Given the description of an element on the screen output the (x, y) to click on. 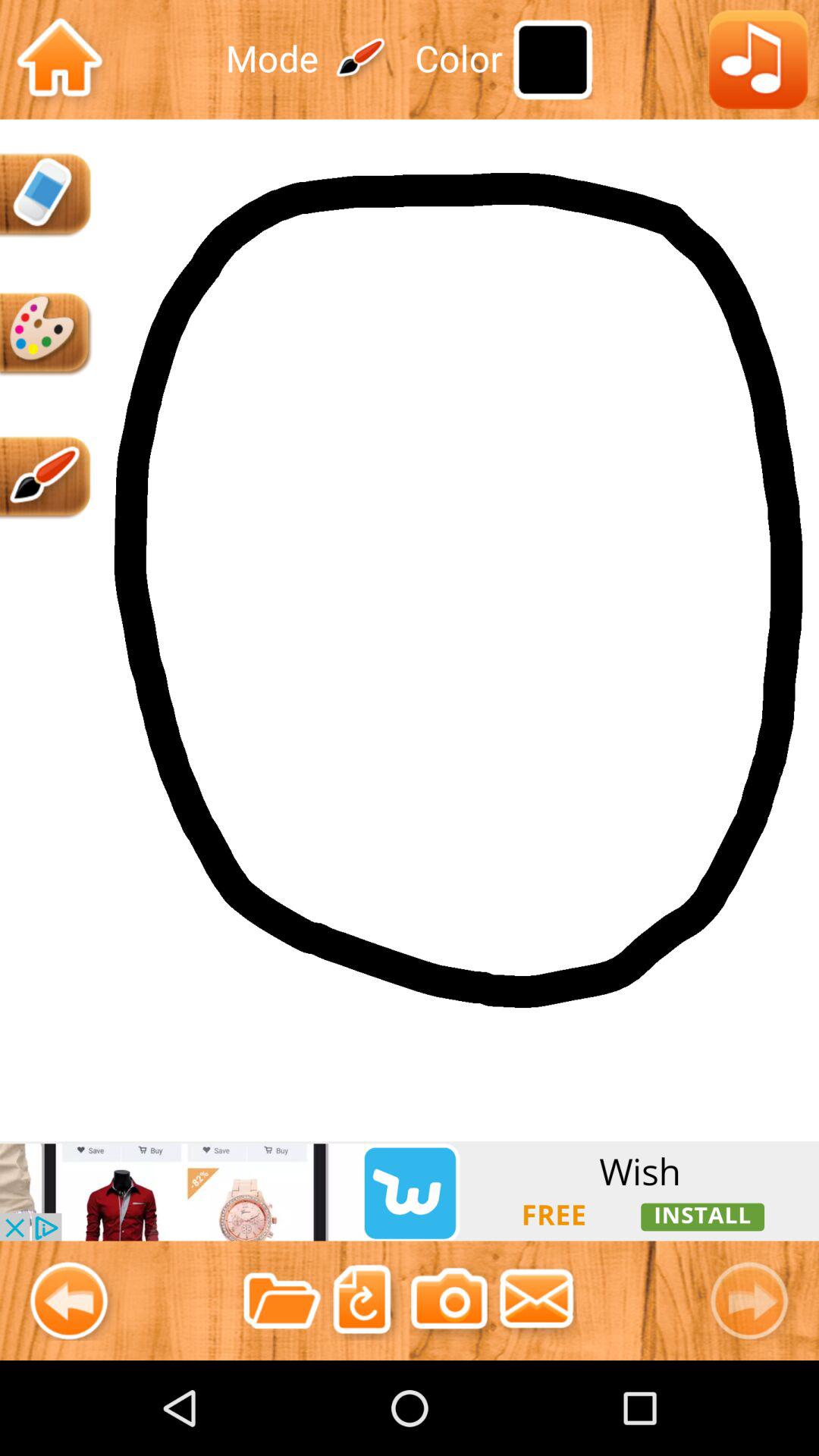
mail to someone (536, 1300)
